Given the description of an element on the screen output the (x, y) to click on. 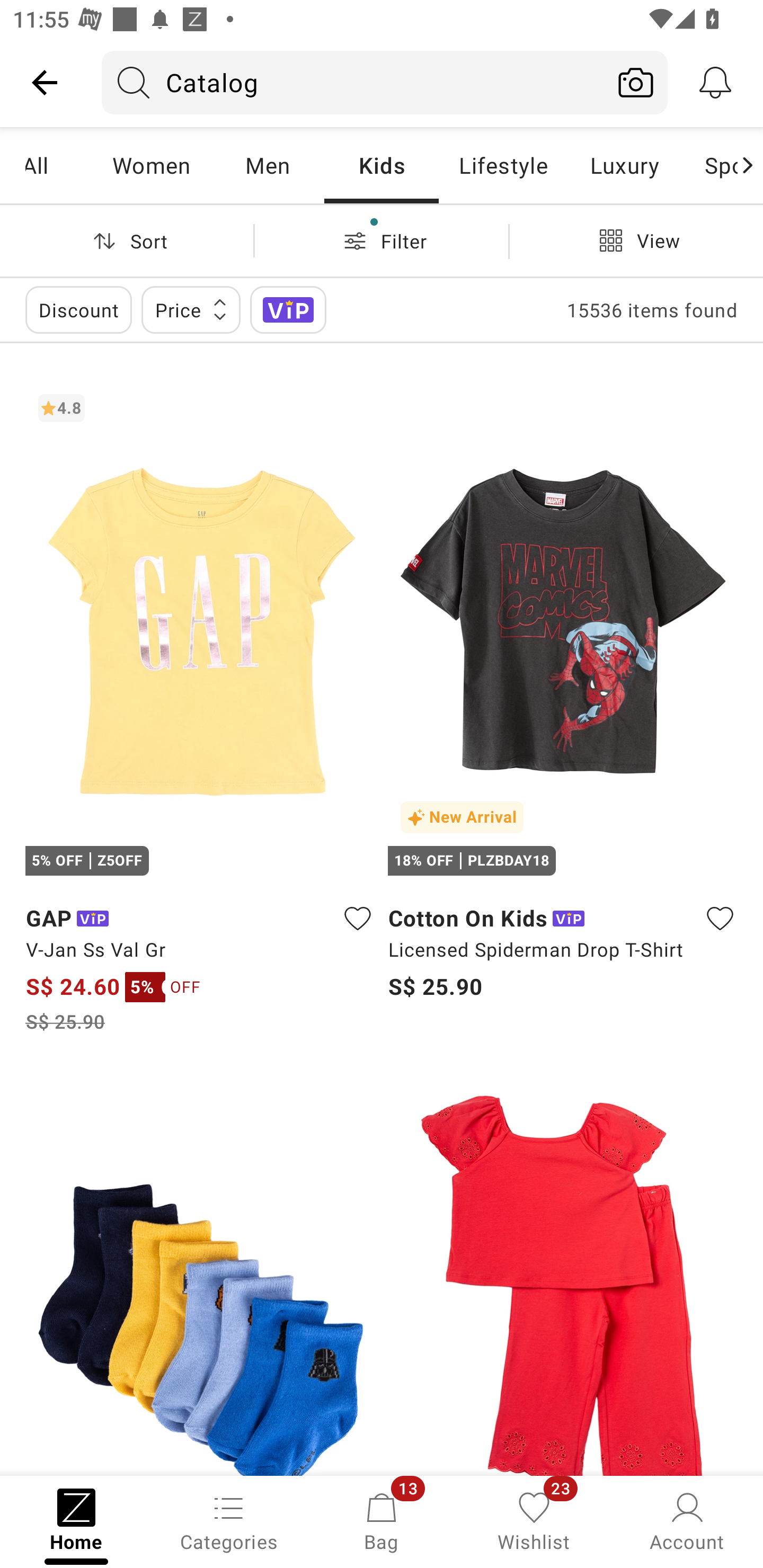
Navigate up (44, 82)
Catalog (352, 82)
Women (151, 165)
Men (266, 165)
Lifestyle (502, 165)
Luxury (623, 165)
Sort (126, 240)
Filter (381, 240)
View (636, 240)
Discount (78, 309)
Price (190, 309)
Categories (228, 1519)
Bag, 13 new notifications Bag (381, 1519)
Wishlist, 23 new notifications Wishlist (533, 1519)
Account (686, 1519)
